Given the description of an element on the screen output the (x, y) to click on. 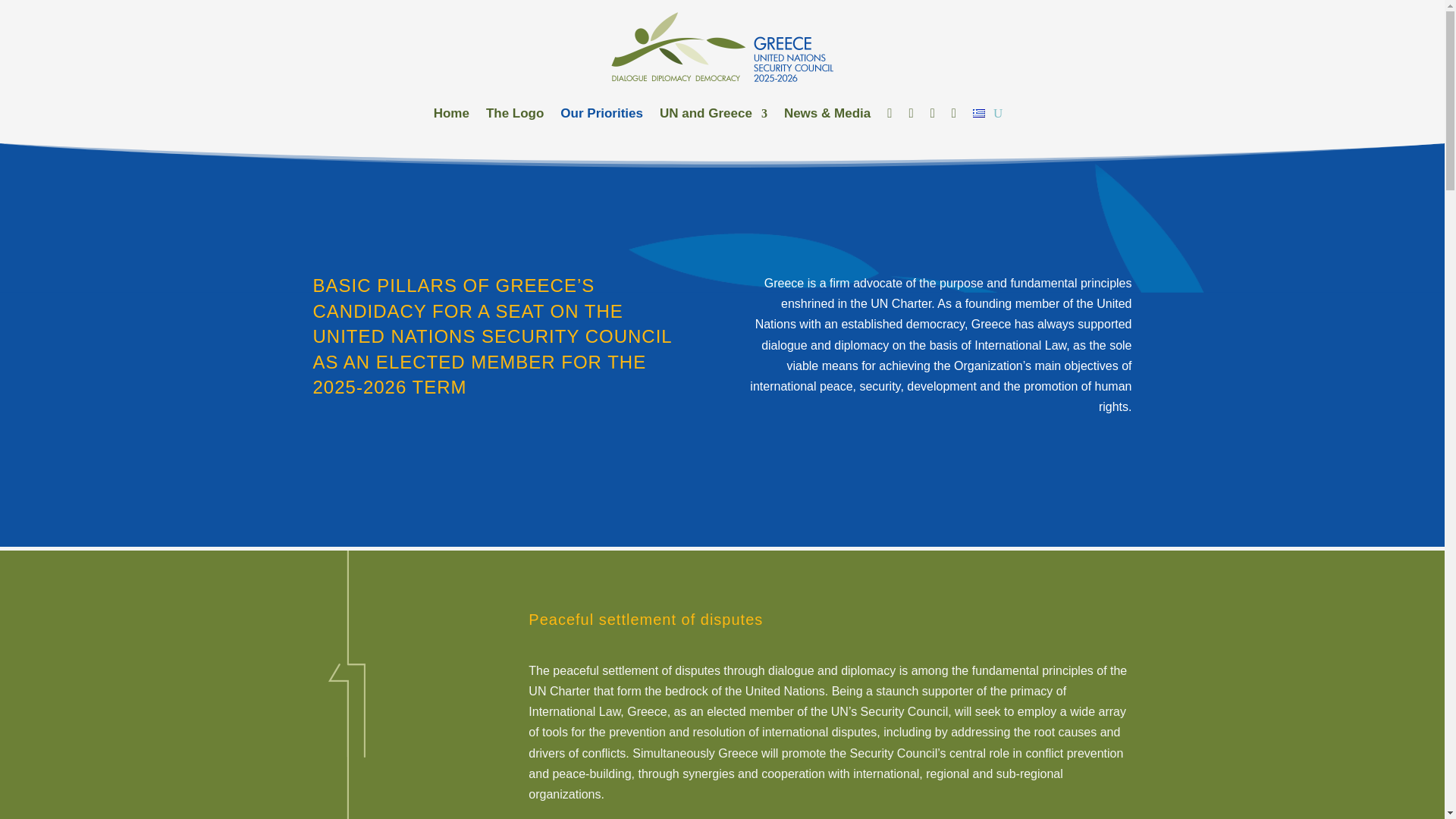
Our Priorities (601, 113)
UN and Greece (713, 113)
The Logo (514, 113)
